Given the description of an element on the screen output the (x, y) to click on. 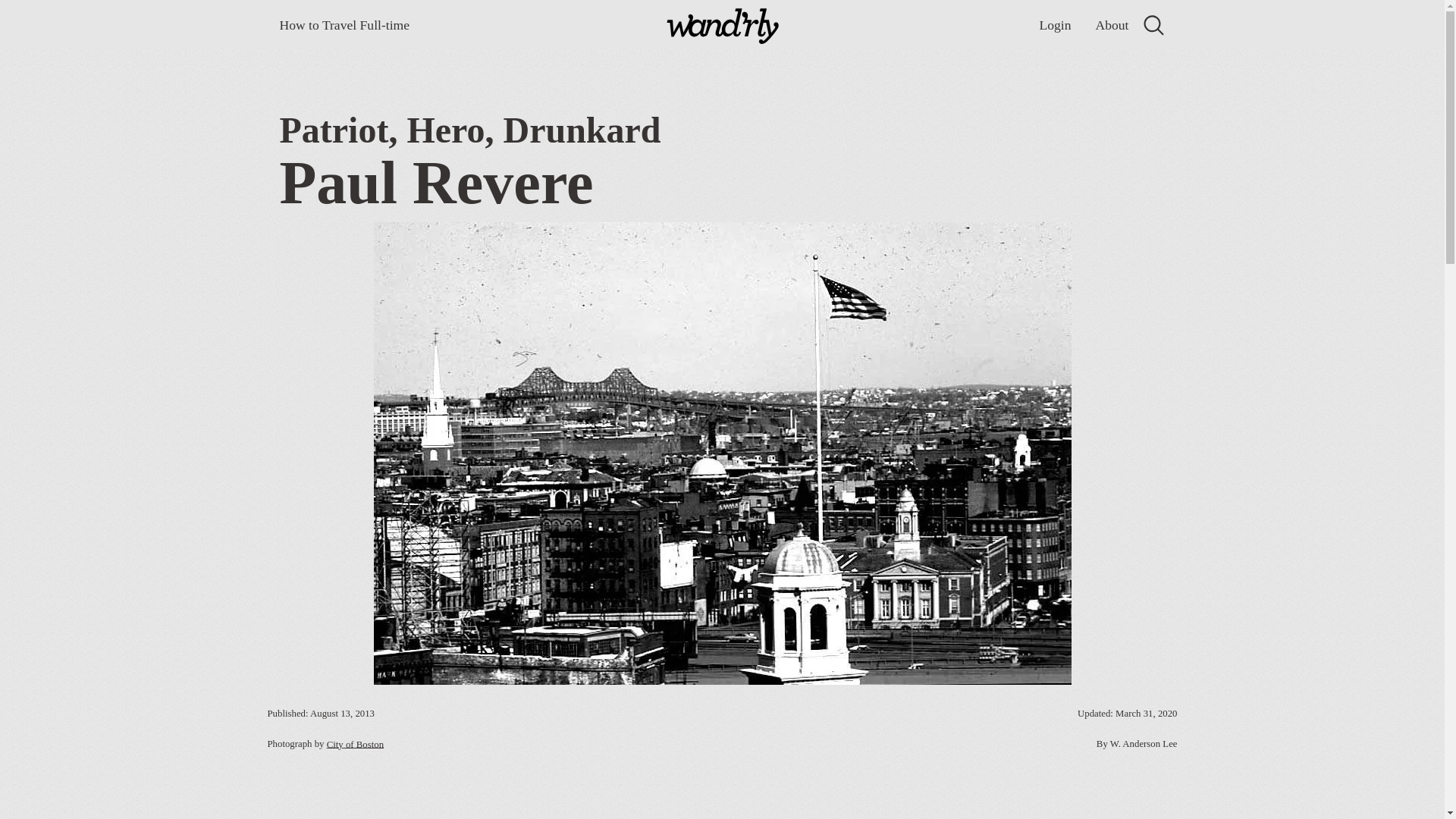
About (1112, 25)
City of Boston (355, 744)
Click this to open the search form (1152, 25)
How to Travel Full-time (344, 25)
Login (1054, 25)
Return to home page (721, 28)
